Given the description of an element on the screen output the (x, y) to click on. 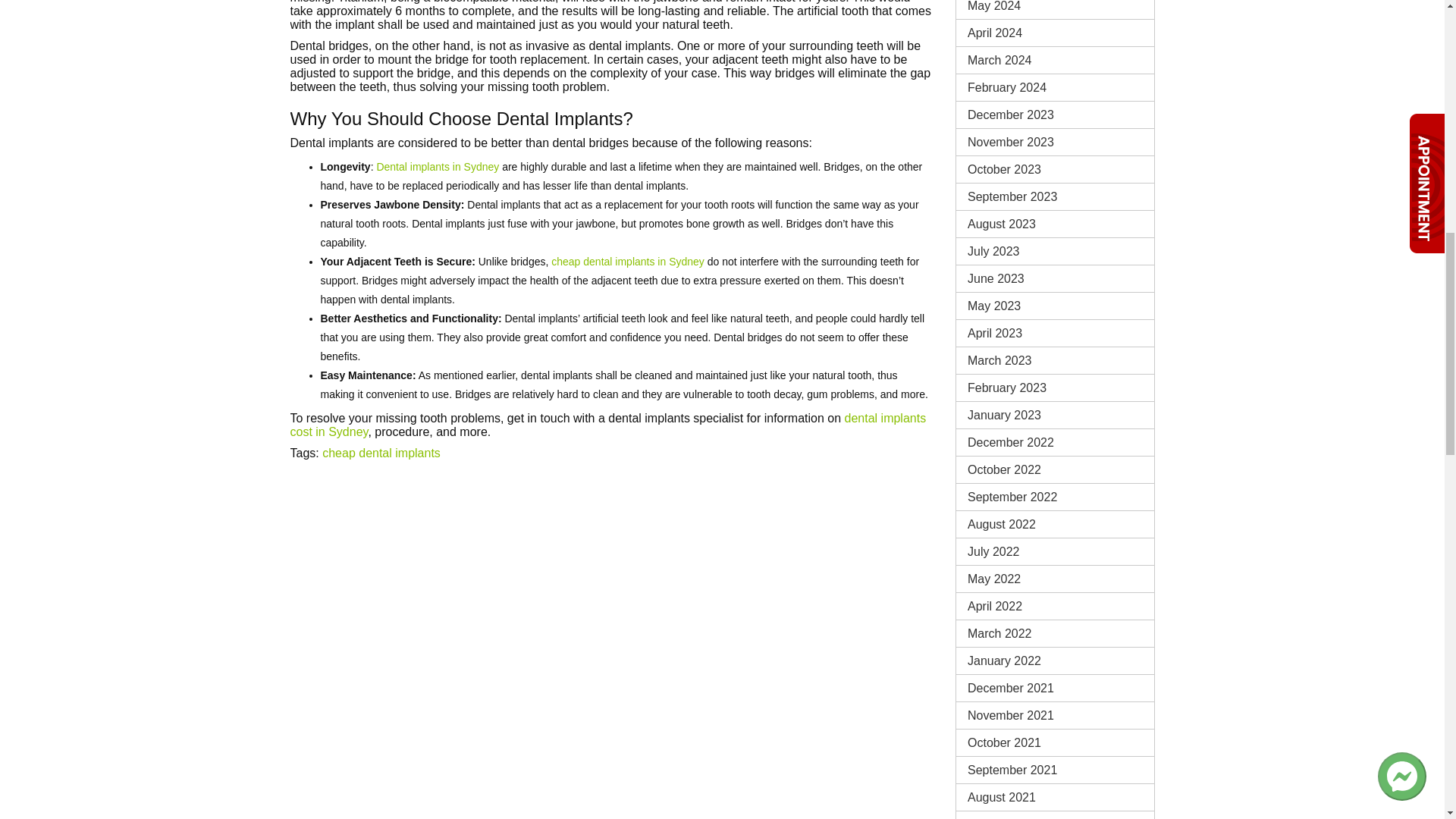
dental implants cost in Sydney (607, 424)
November 2023 (1055, 141)
December 2023 (1055, 114)
July 2023 (1055, 251)
October 2023 (1055, 169)
August 2023 (1055, 223)
April 2024 (1055, 32)
March 2024 (1055, 59)
cheap dental implants (381, 452)
February 2024 (1055, 87)
September 2023 (1055, 196)
Dental implants in Sydney (437, 166)
cheap dental implants in Sydney (627, 261)
May 2024 (1055, 9)
